Given the description of an element on the screen output the (x, y) to click on. 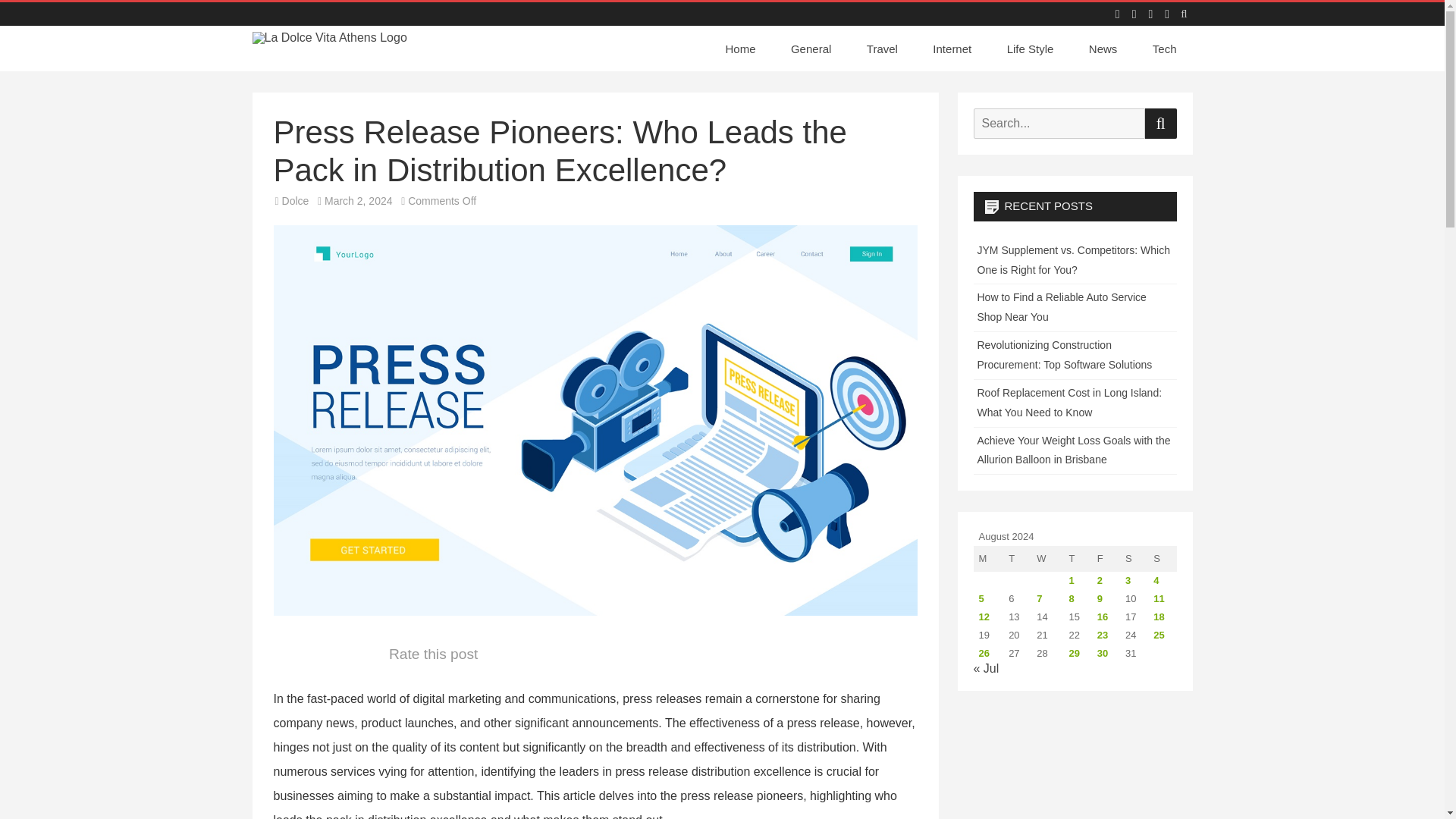
Tech (1164, 48)
La Dolce Vita Athens (345, 53)
Search (1160, 123)
Dolce (295, 200)
News (1103, 48)
Home (745, 48)
Friday (1105, 558)
Saturday (1133, 558)
Tuesday (1016, 558)
